Given the description of an element on the screen output the (x, y) to click on. 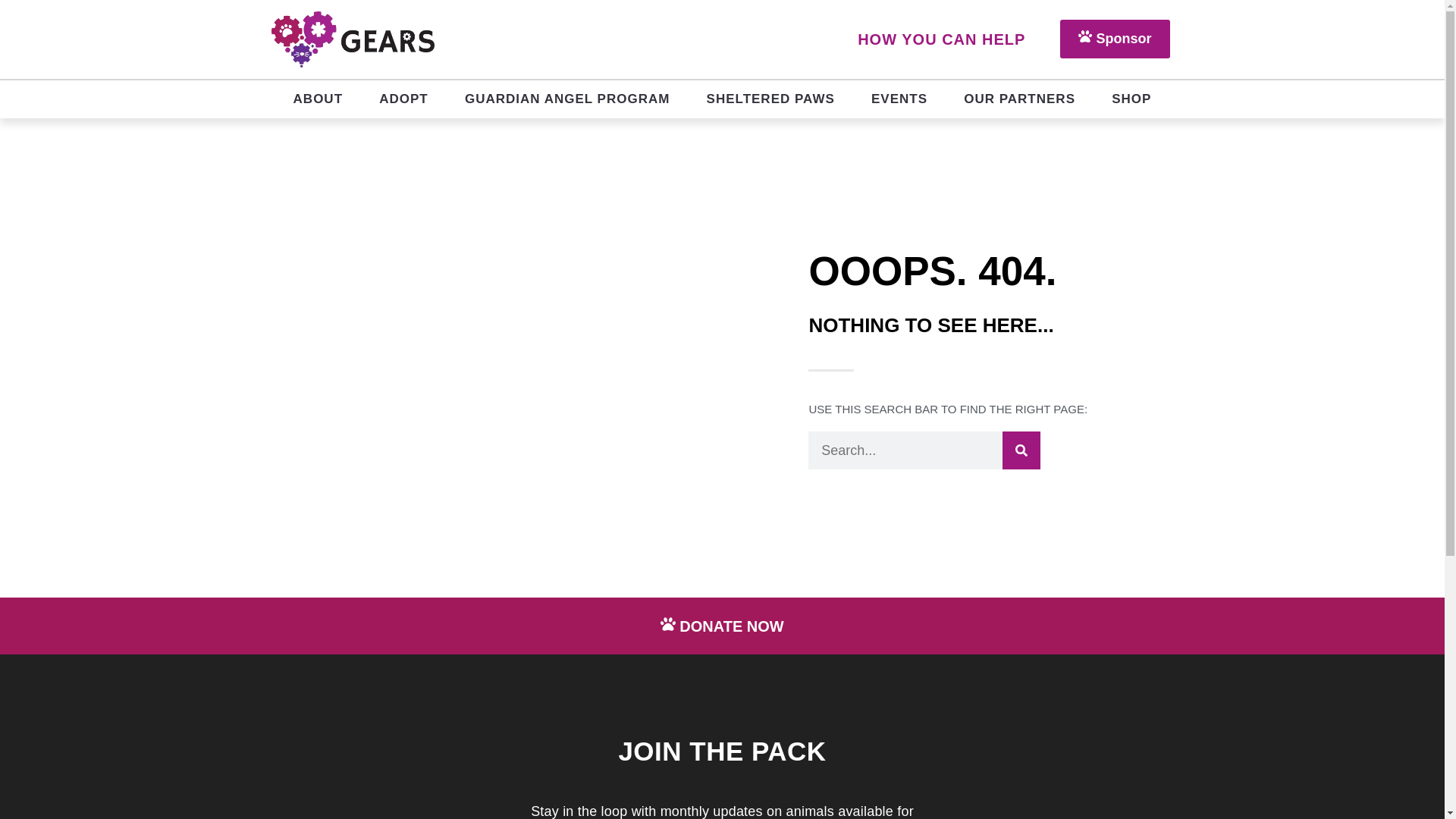
HOW YOU CAN HELP (942, 38)
ABOUT (318, 98)
Sponsor (1114, 38)
